Given the description of an element on the screen output the (x, y) to click on. 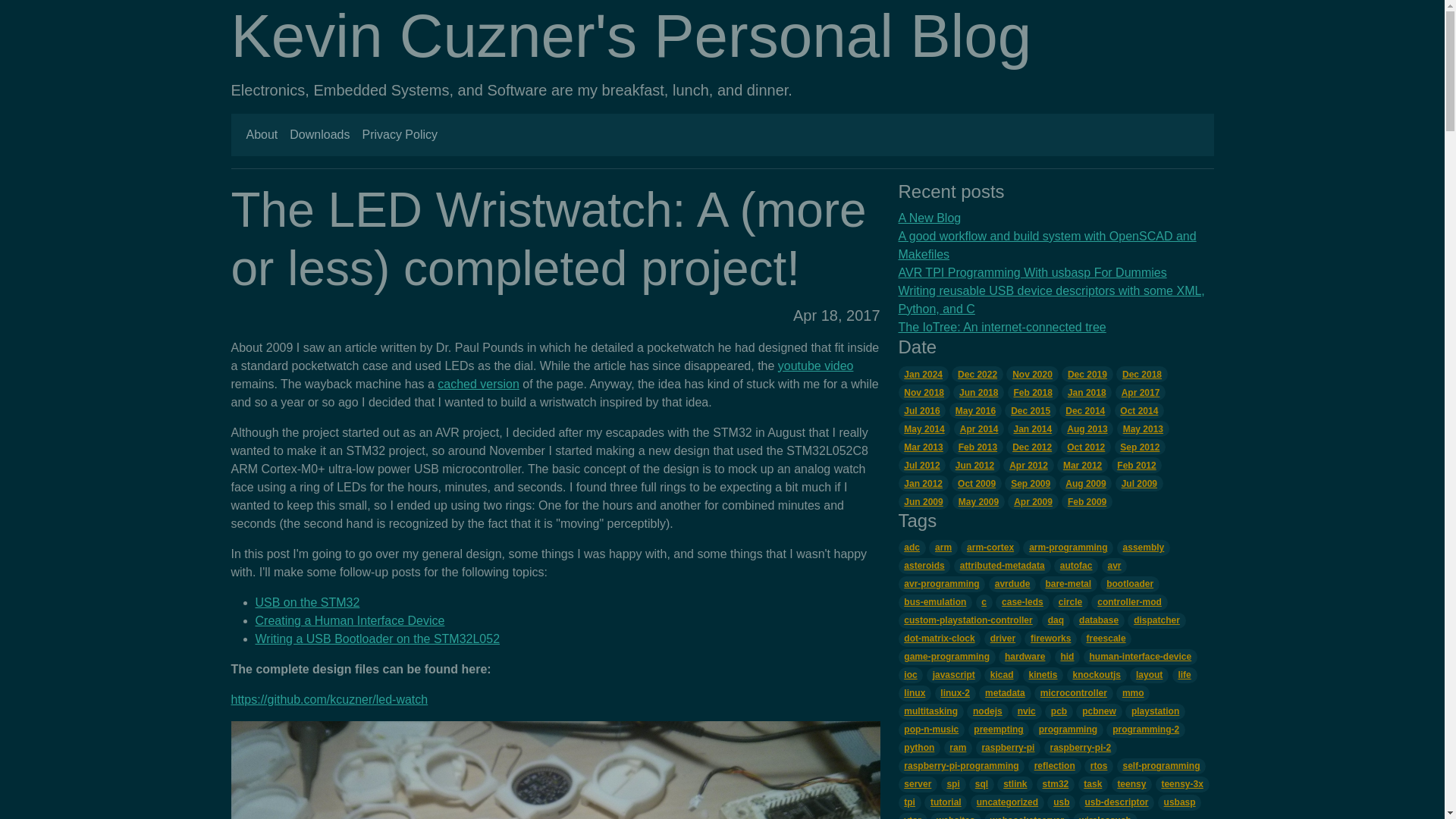
Feb 2018 (1032, 391)
Dec 2022 (977, 373)
Creating a Human Interface Device (349, 620)
Dec 2018 (1141, 373)
youtube video (815, 365)
Nov 2020 (1032, 373)
Jan 2018 (1086, 391)
May 2016 (975, 409)
Dec 2015 (1030, 409)
Apr 2017 (1140, 391)
Dec 2014 (1084, 409)
The IoTree: An internet-connected tree (1001, 327)
Privacy Policy (399, 134)
cached version (478, 383)
AVR TPI Programming With usbasp For Dummies (1032, 272)
